Given the description of an element on the screen output the (x, y) to click on. 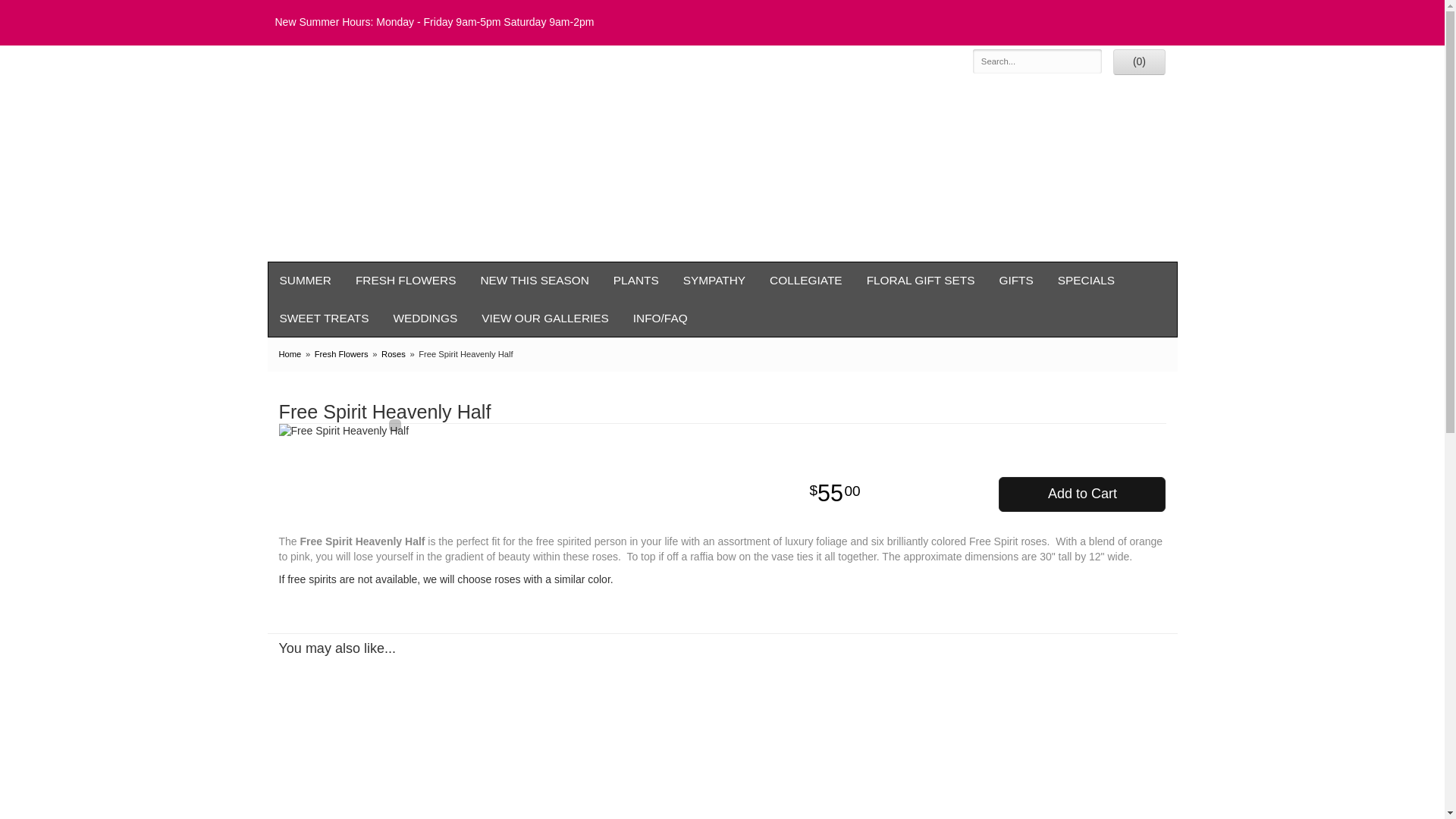
FRESH FLOWERS (405, 280)
COLLEGIATE (805, 280)
FLORAL GIFT SETS (920, 280)
VIEW OUR GALLERIES (544, 318)
SWEET TREATS (323, 318)
GIFTS (1016, 280)
SPECIALS (1085, 280)
SYMPATHY (714, 280)
SUMMER (304, 280)
NEW THIS SEASON (533, 280)
WEDDINGS (425, 318)
PLANTS (636, 280)
